Given the description of an element on the screen output the (x, y) to click on. 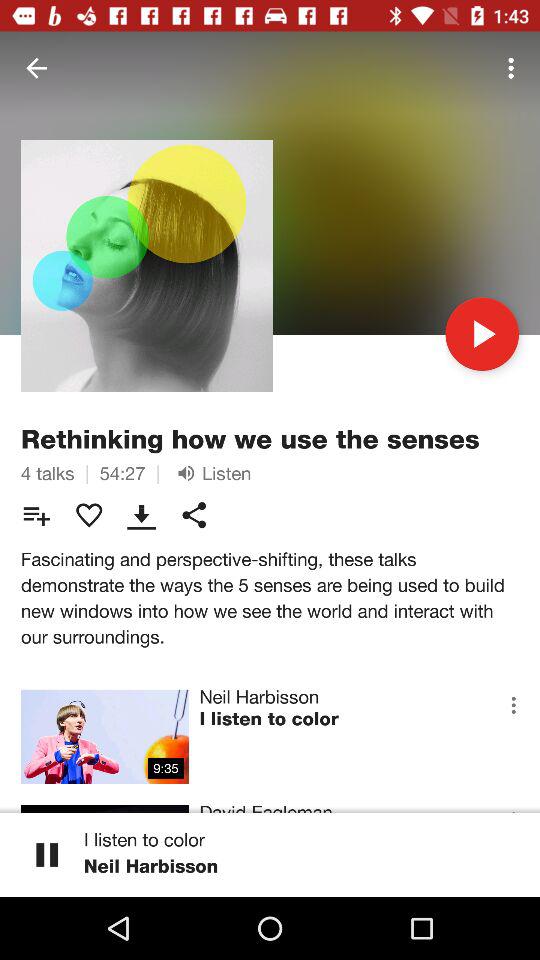
open the icon on the right (482, 333)
